Given the description of an element on the screen output the (x, y) to click on. 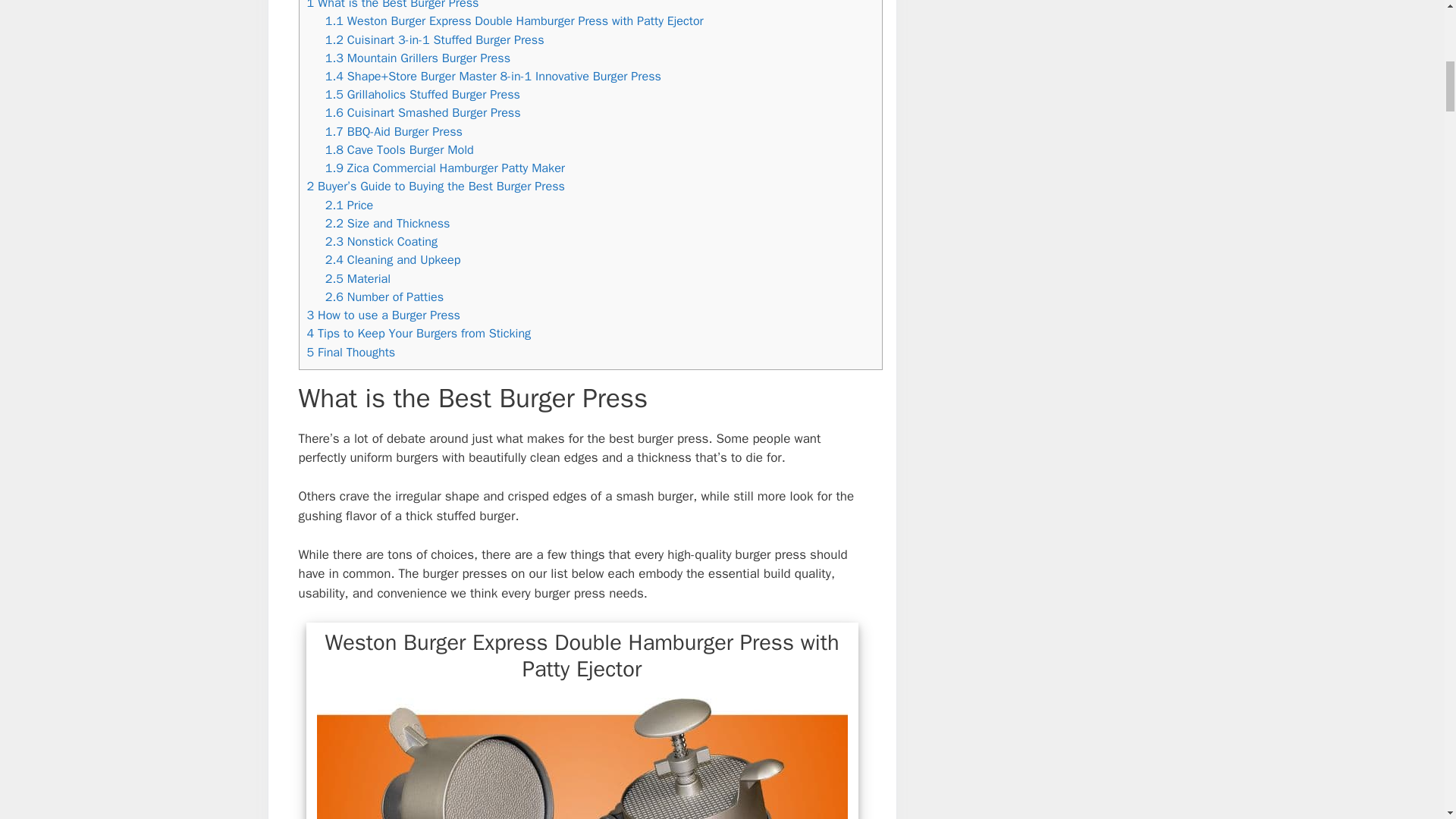
1.7 BBQ-Aid Burger Press (393, 131)
2.6 Number of Patties (384, 296)
2.5 Material (357, 278)
3 How to use a Burger Press (382, 314)
1 What is the Best Burger Press (392, 5)
1.6 Cuisinart Smashed Burger Press (422, 112)
5 Final Thoughts (349, 351)
2.1 Price (349, 204)
1.2 Cuisinart 3-in-1 Stuffed Burger Press (434, 39)
2.2 Size and Thickness (386, 222)
1.9 Zica Commercial Hamburger Patty Maker (444, 167)
1.3 Mountain Grillers Burger Press (417, 57)
2.3 Nonstick Coating (381, 241)
1.8 Cave Tools Burger Mold (399, 149)
